Given the description of an element on the screen output the (x, y) to click on. 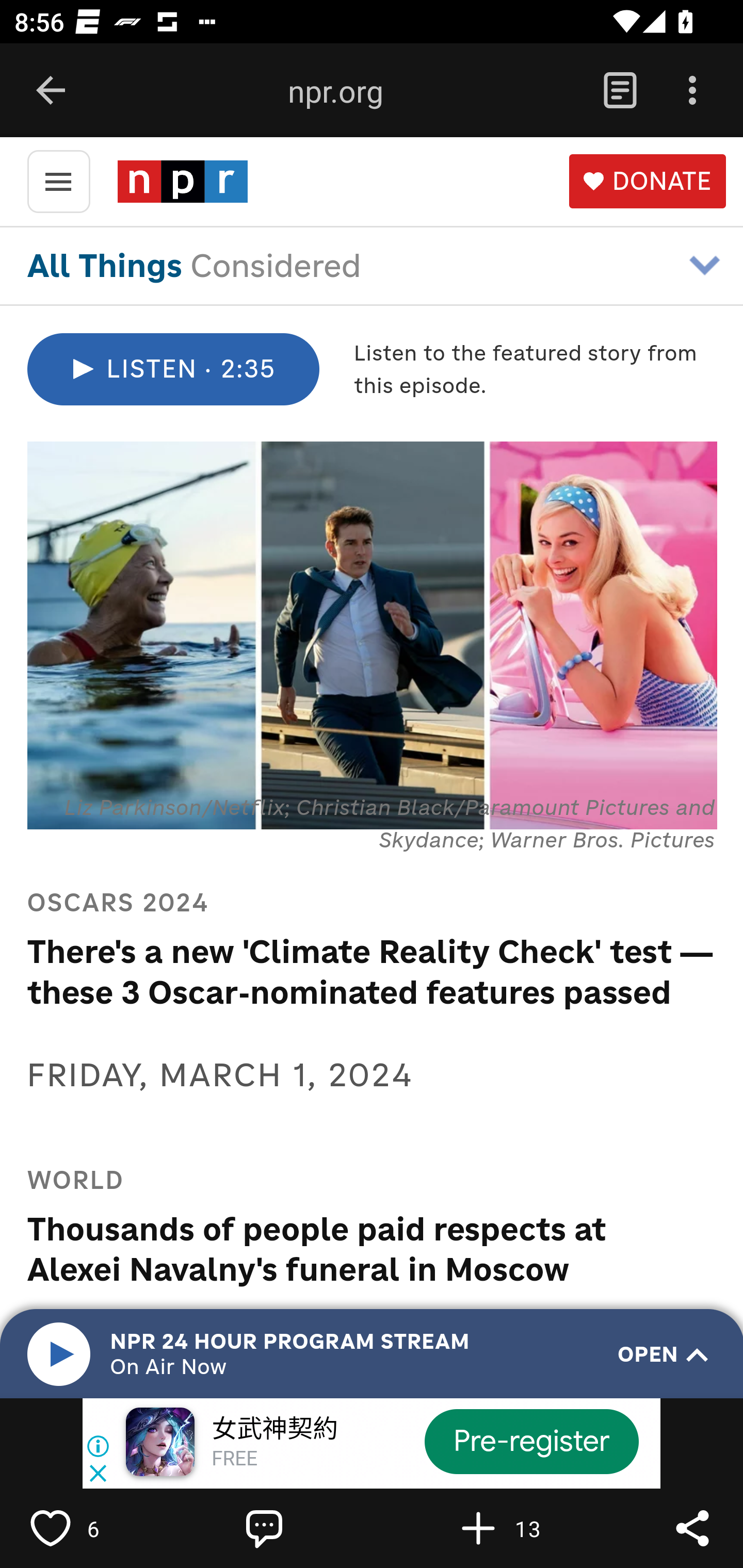
Back (50, 90)
Reader View (619, 90)
Options (692, 90)
Open Navigation Menu (58, 180)
DONATE (646, 181)
NPR logo (181, 180)
LISTEN· 2:35 (172, 369)
OSCARS 2024 OSCARS 2024 OSCARS 2024 (371, 902)
WORLD WORLD WORLD (344, 1179)
Pre-register (530, 1441)
女武神契約 (274, 1429)
FREE (234, 1459)
Like 6 (93, 1528)
Write a comment… (307, 1528)
Flip into Magazine 13 (521, 1528)
Share (692, 1528)
